Given the description of an element on the screen output the (x, y) to click on. 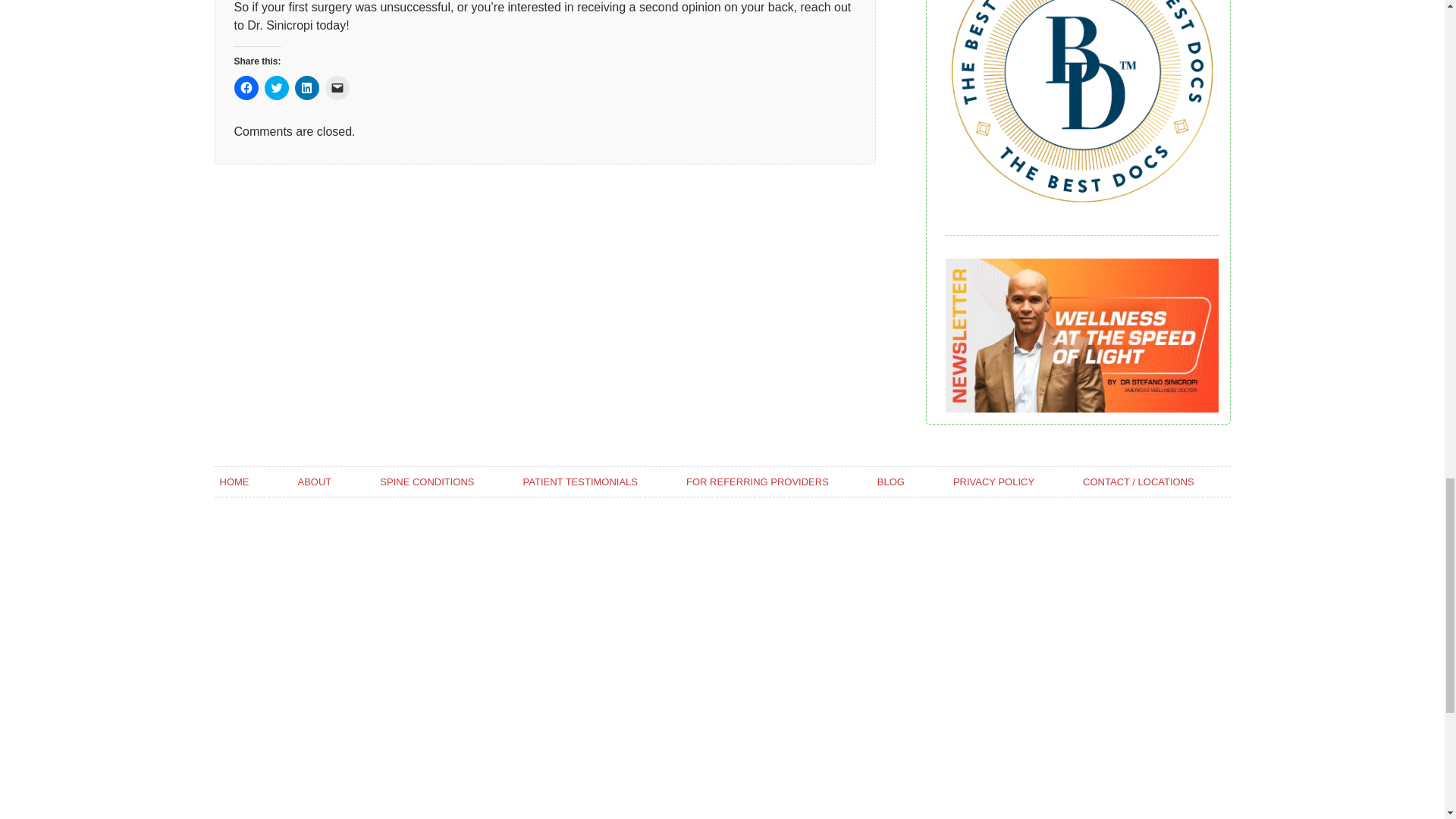
Click to share on Facebook (244, 87)
Click to email a link to a friend (336, 87)
Click to share on Twitter (275, 87)
Click to share on LinkedIn (306, 87)
